Given the description of an element on the screen output the (x, y) to click on. 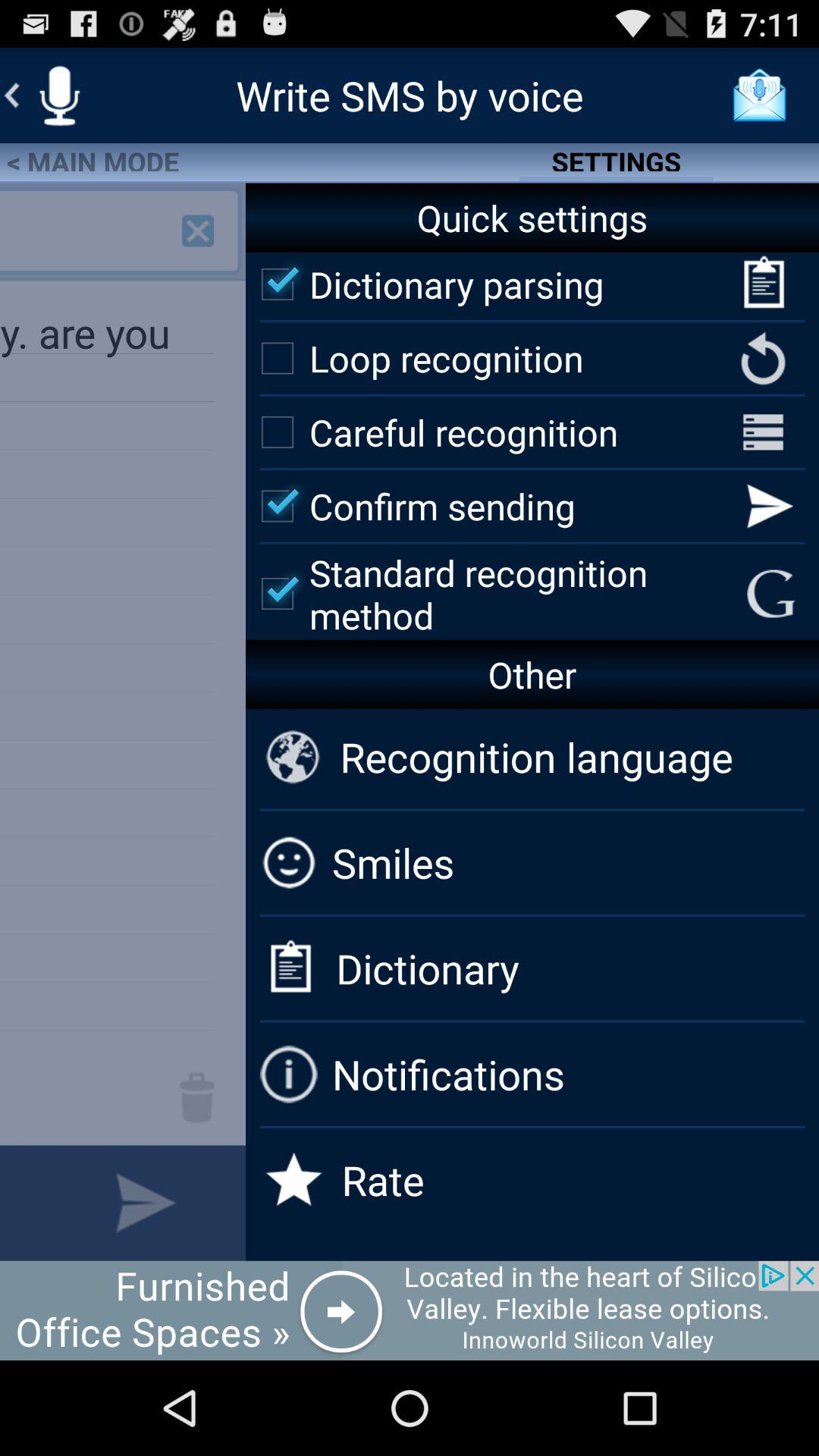
mic option (59, 95)
